Given the description of an element on the screen output the (x, y) to click on. 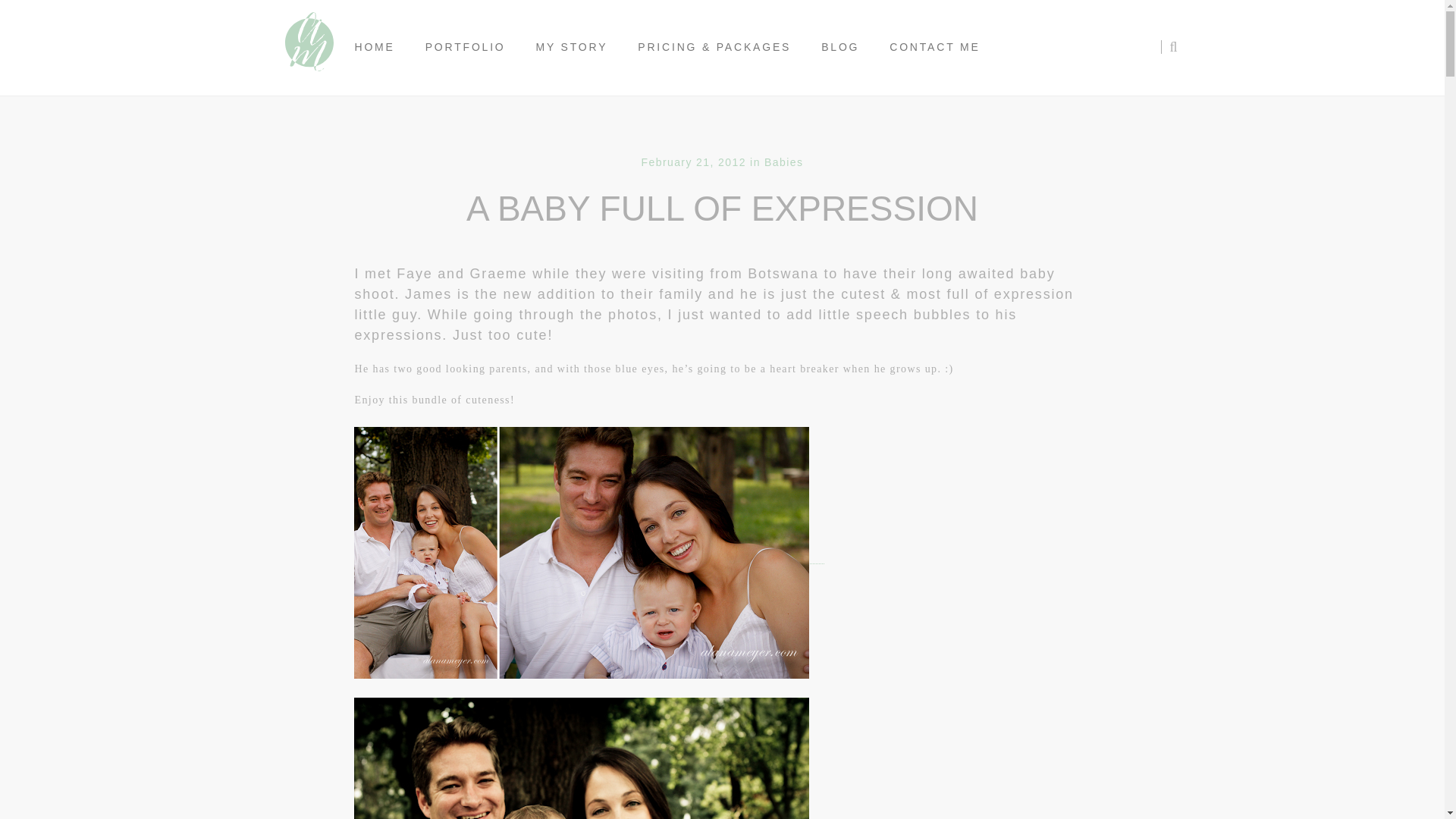
PORTFOLIO (465, 47)
Baby photographer-1 (581, 758)
MY STORY (572, 47)
CONTACT ME (934, 47)
baby shoot 3 (581, 552)
Portfolio (465, 47)
Contact Me (934, 47)
My Story (572, 47)
